Given the description of an element on the screen output the (x, y) to click on. 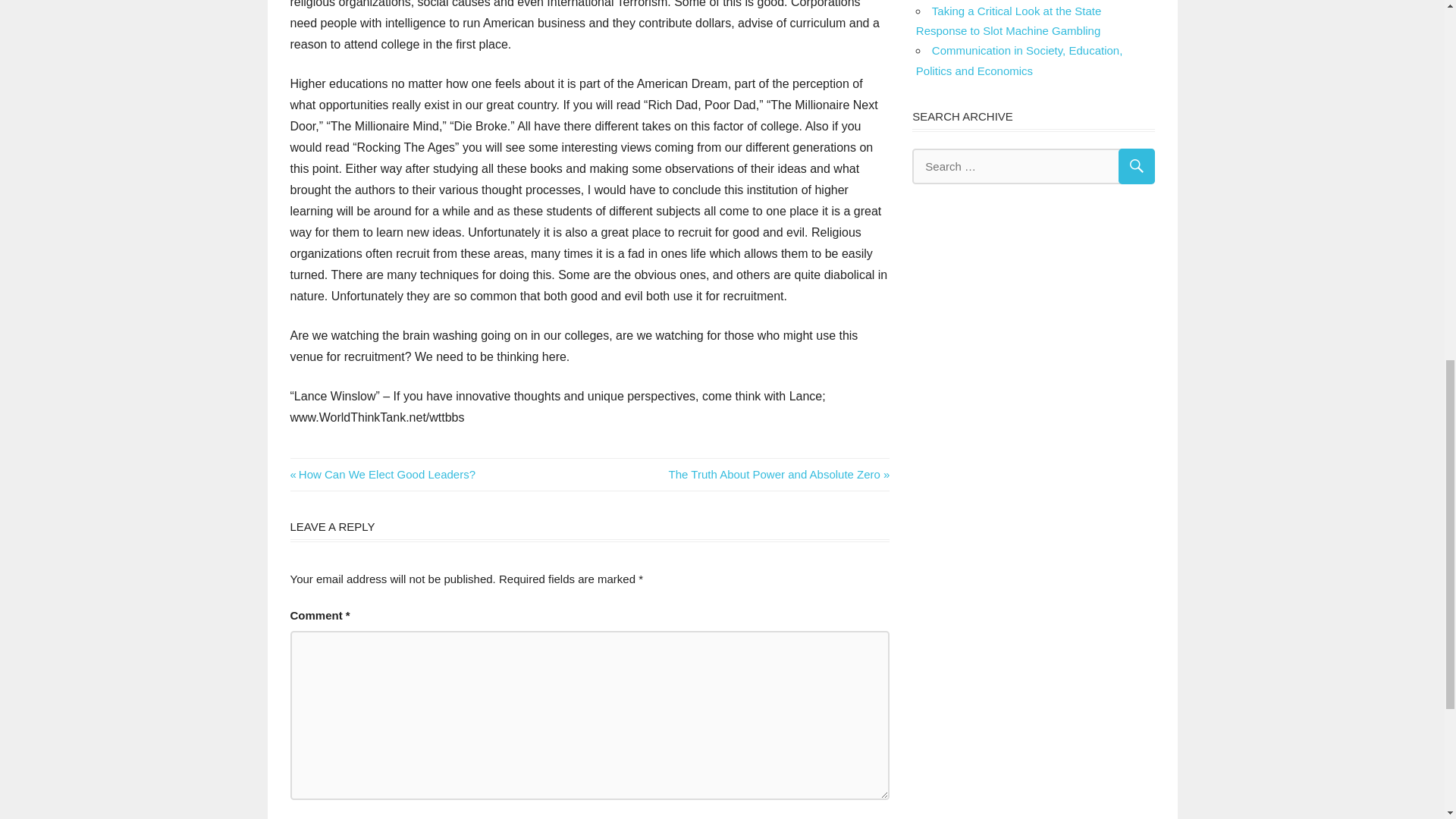
Communication in Society, Education, Politics and Economics (1018, 60)
Search for: (382, 473)
